Given the description of an element on the screen output the (x, y) to click on. 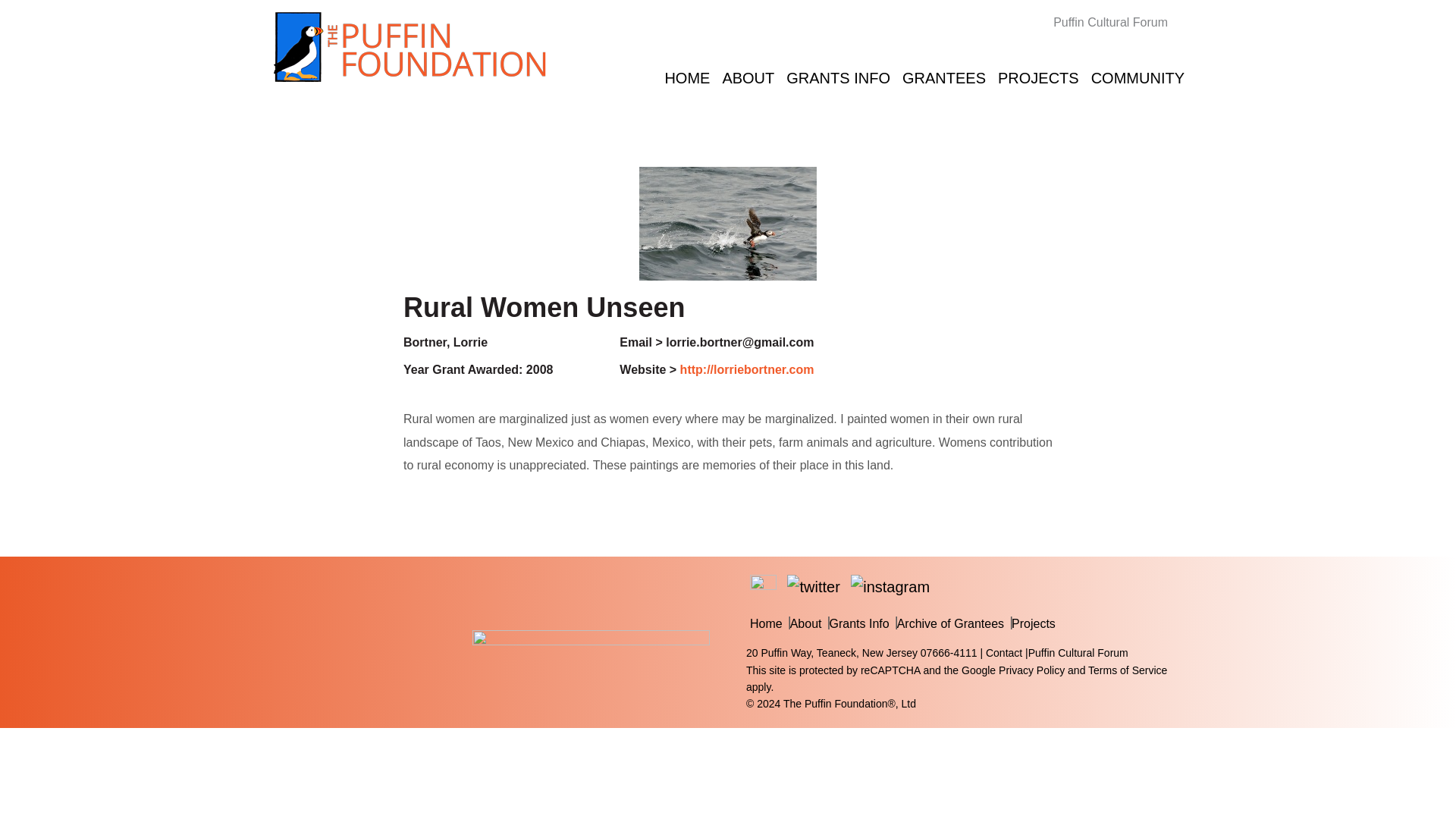
PROJECTS (1037, 76)
The Puffin Foundation (409, 45)
GRANTS INFO (838, 76)
Puffin Cultural Forum (1117, 21)
HOME (687, 76)
GRANTEES (943, 76)
ABOUT (748, 76)
COMMUNITY (1137, 76)
